Given the description of an element on the screen output the (x, y) to click on. 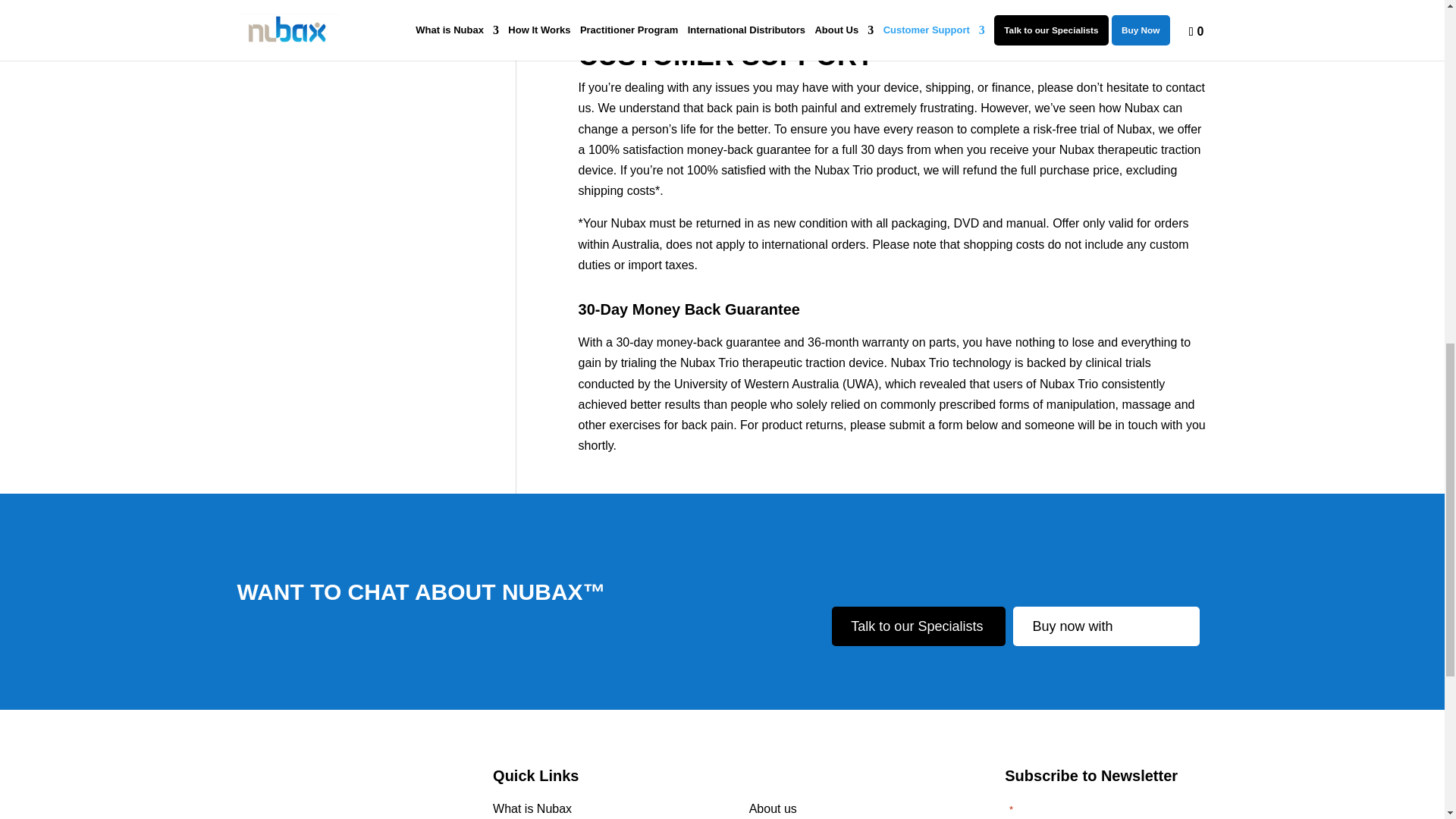
Talk to our Specialists (918, 626)
What is Nubax (532, 808)
Buy now with (1106, 626)
About us (772, 808)
